Given the description of an element on the screen output the (x, y) to click on. 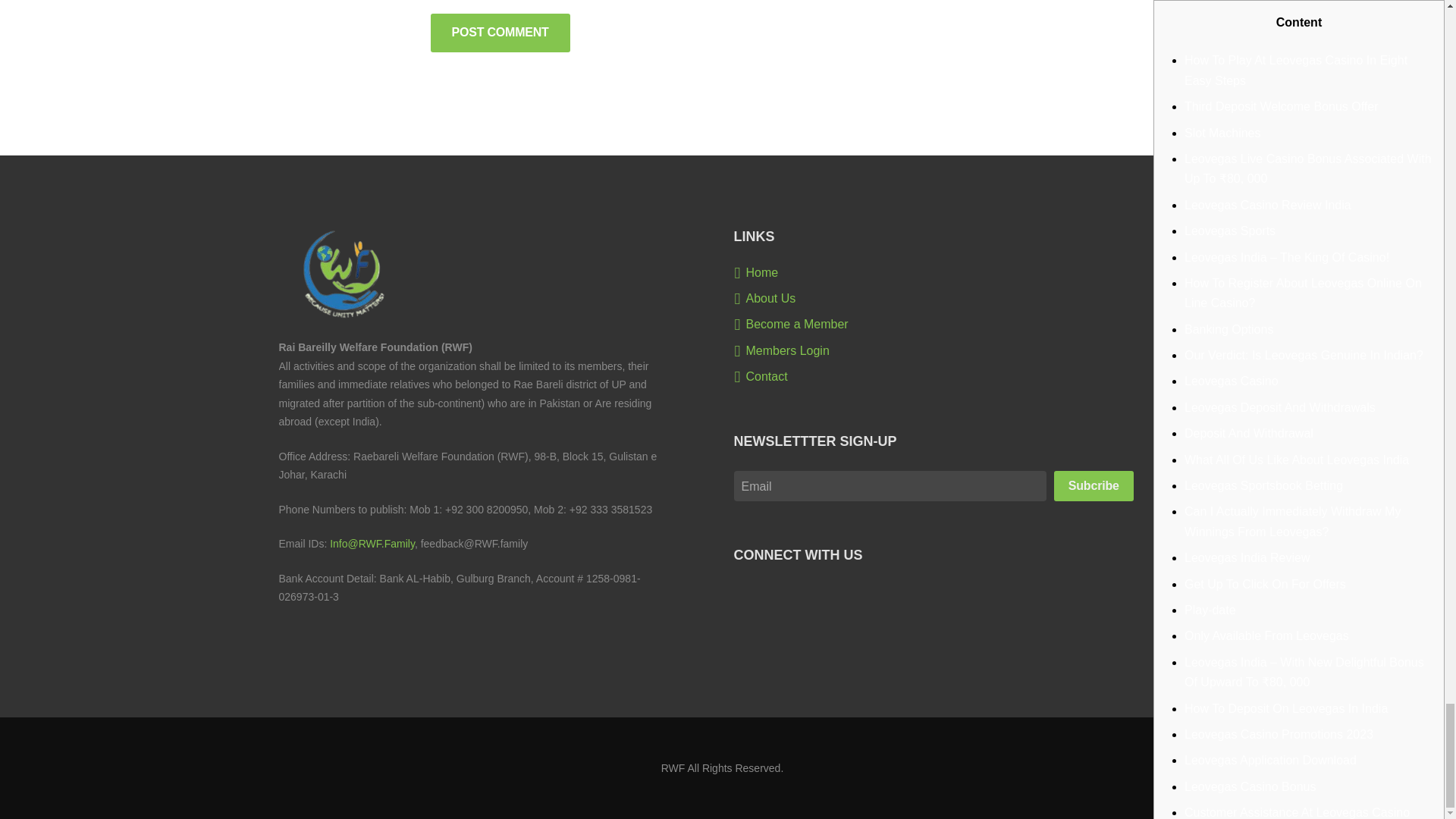
Subcribe (1094, 485)
Post Comment (500, 32)
